Given the description of an element on the screen output the (x, y) to click on. 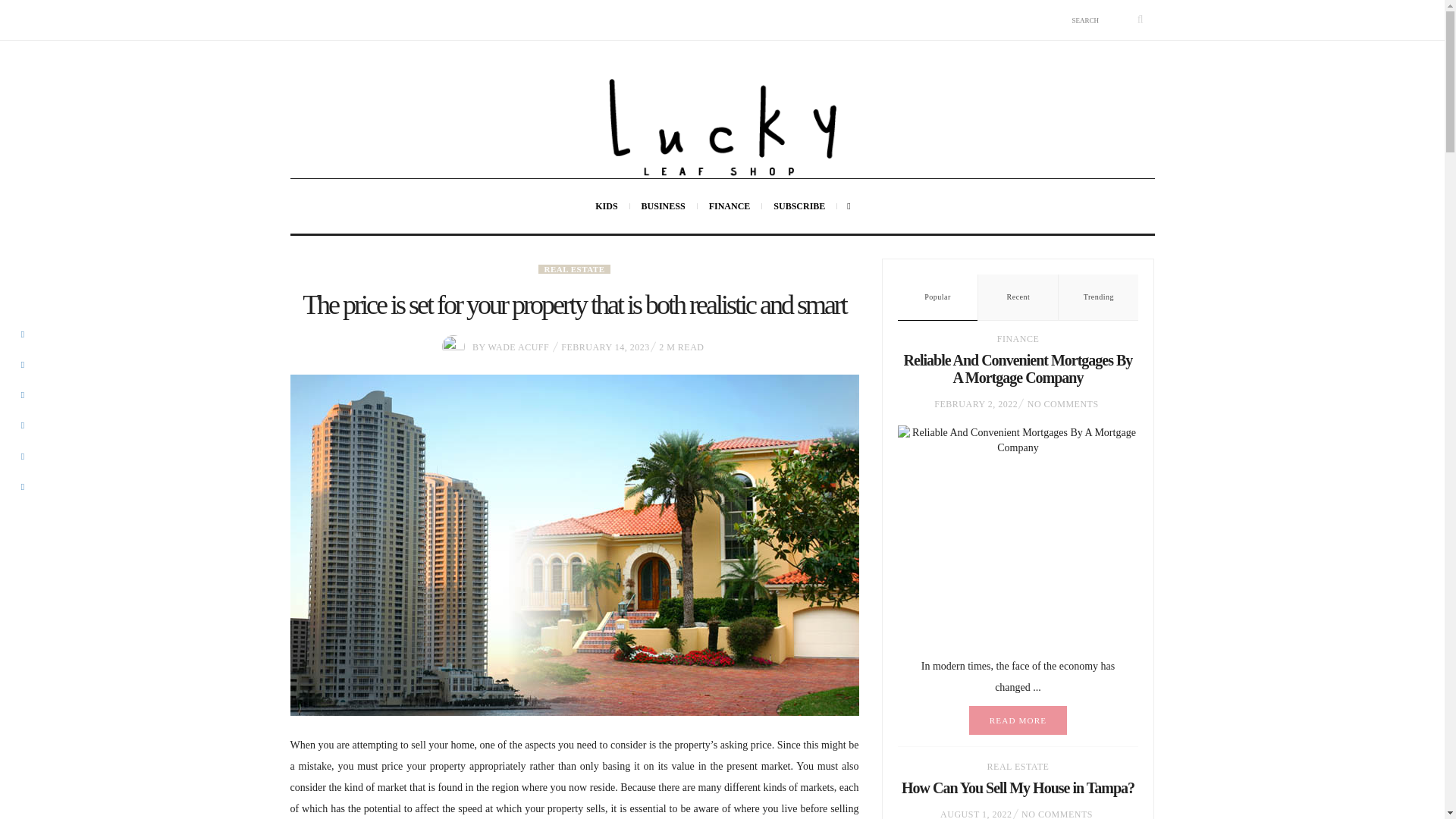
BUSINESS (663, 206)
Reliable And Convenient Mortgages By A Mortgage Company (1018, 368)
Posts by Wade Acuff (518, 347)
REAL ESTATE (574, 268)
How Can You Sell My House in Tampa? (1017, 787)
FINANCE (729, 206)
SUBSCRIBE (799, 206)
